Given the description of an element on the screen output the (x, y) to click on. 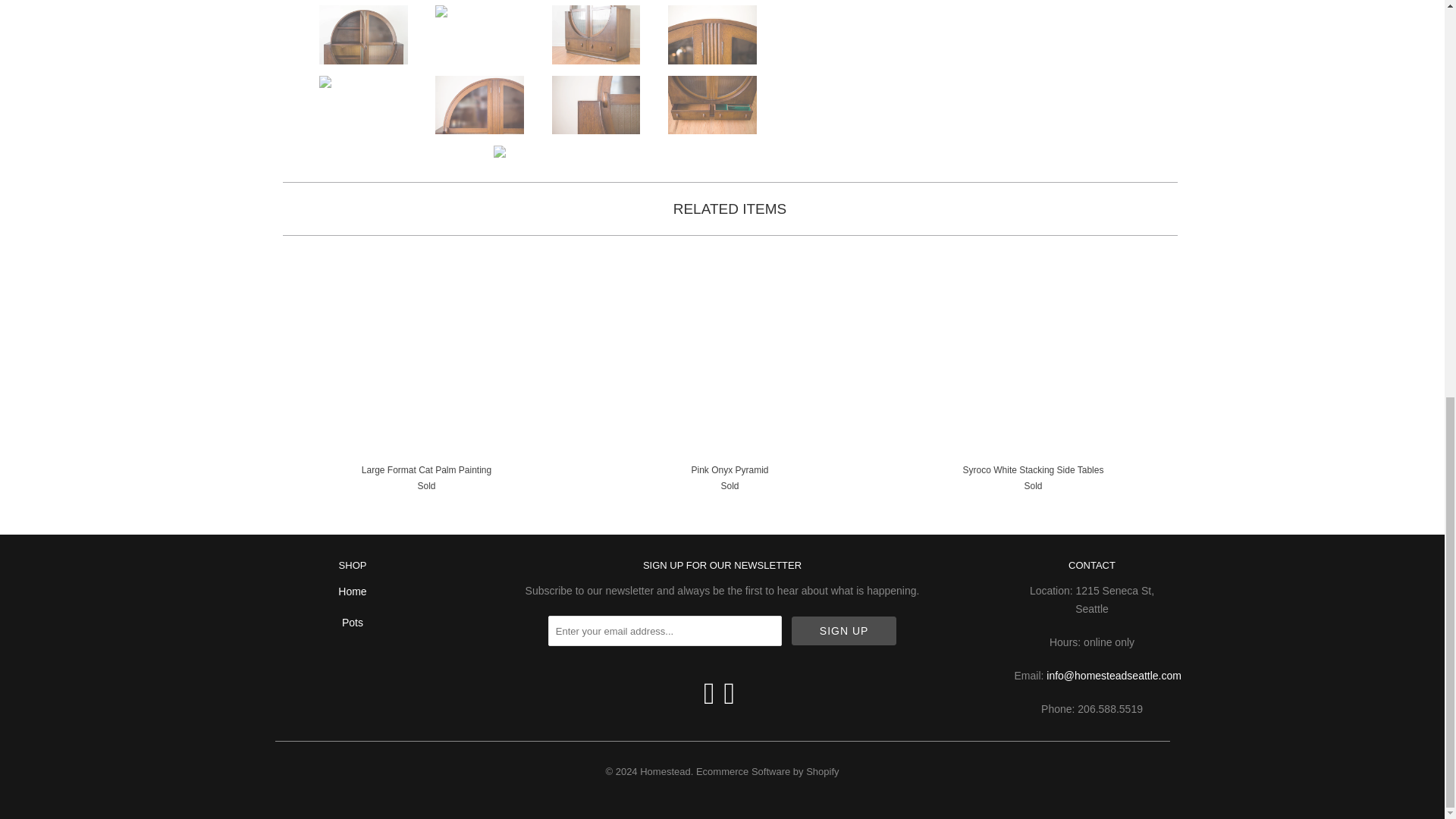
Sign Up (844, 630)
Home (351, 591)
